Given the description of an element on the screen output the (x, y) to click on. 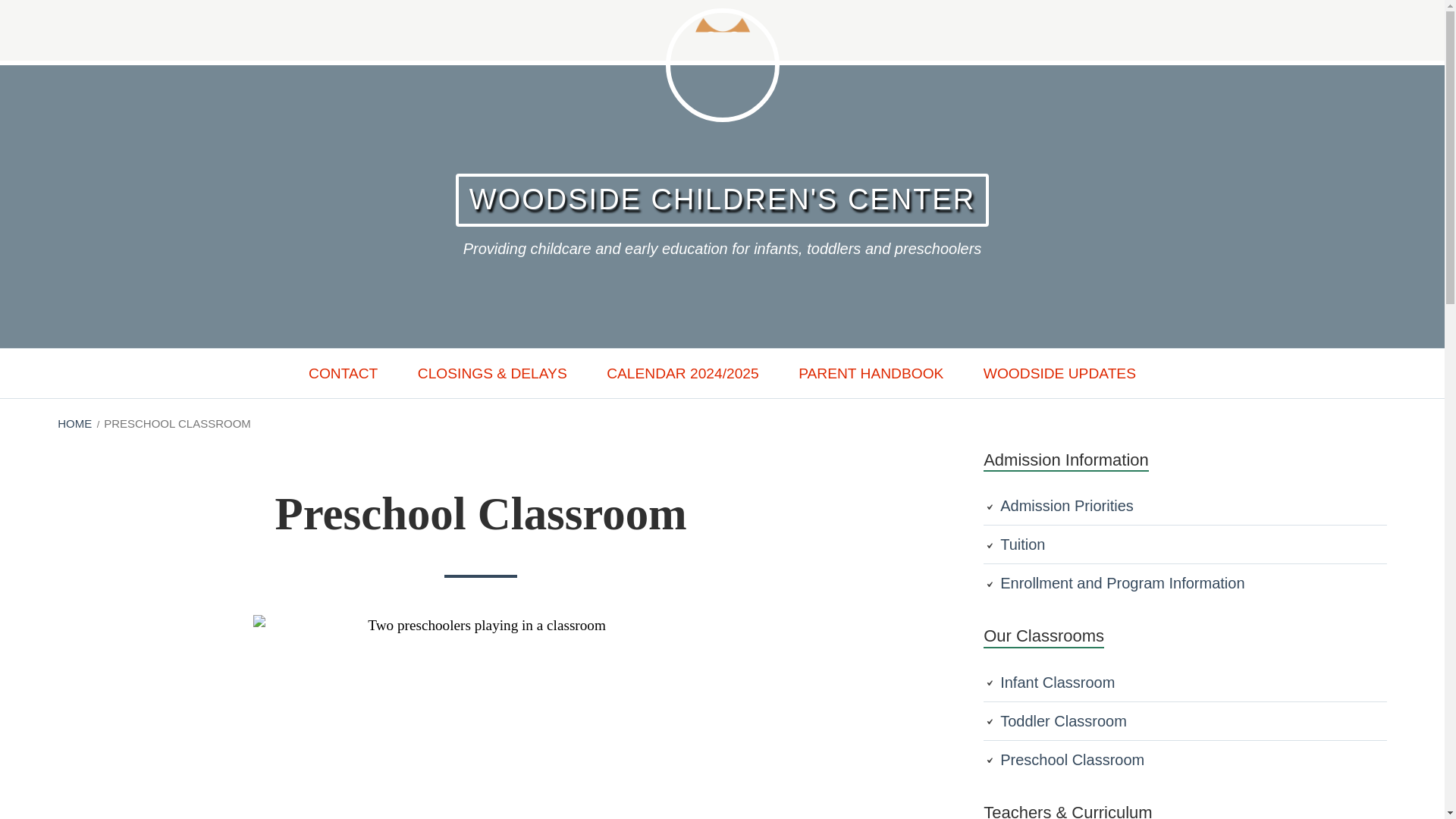
Enrollment and Program Information (1122, 582)
Infant Classroom (1057, 682)
HOME (74, 422)
Admission Priorities (1067, 505)
WOODSIDE CHILDREN'S CENTER (721, 199)
Tuition (1022, 544)
Preschool Classroom (1072, 759)
WOODSIDE UPDATES (1059, 373)
CONTACT (342, 373)
PARENT HANDBOOK (870, 373)
